Given the description of an element on the screen output the (x, y) to click on. 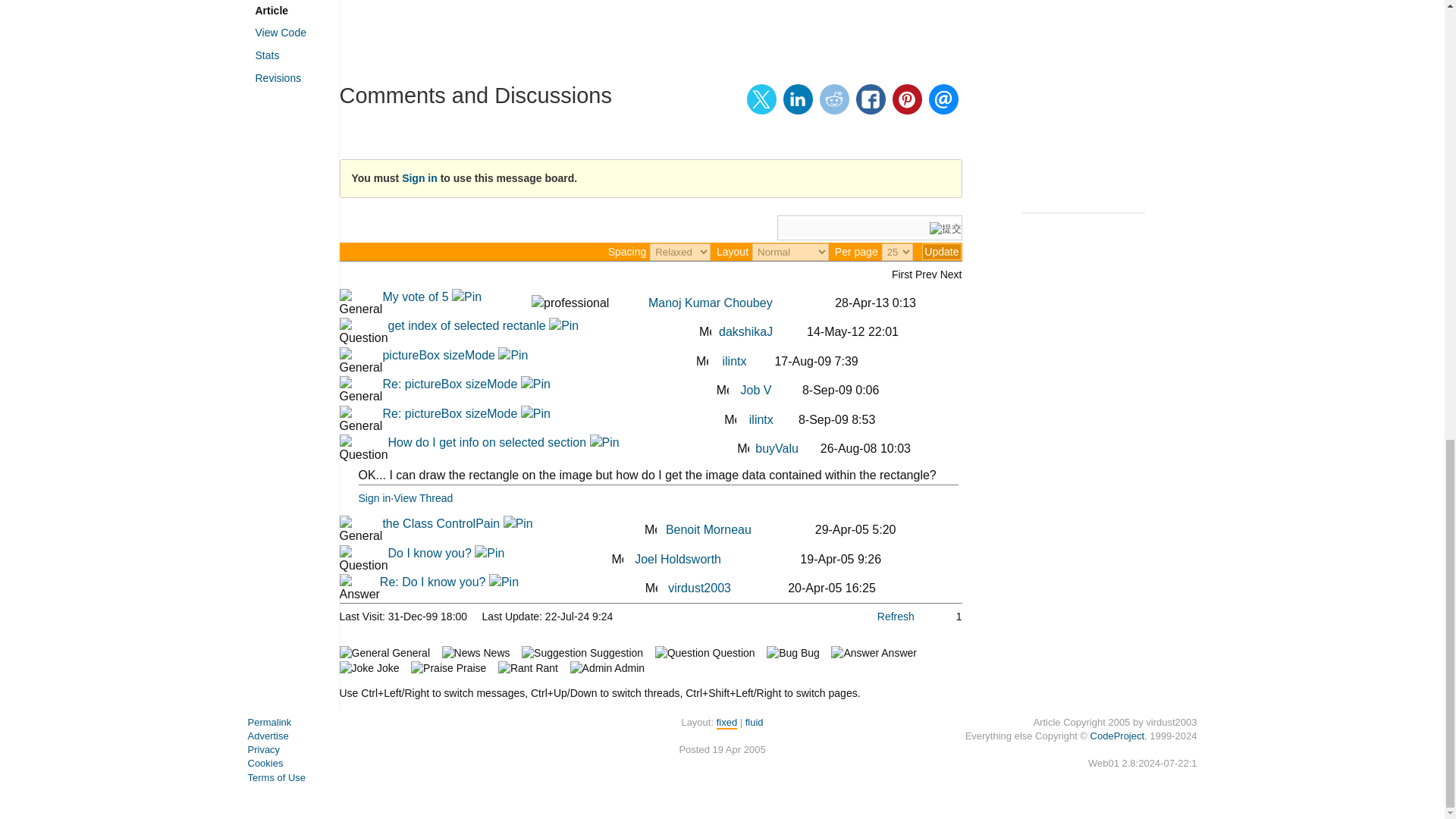
General (360, 303)
Professional (569, 303)
Update (940, 251)
Question (363, 331)
Click to pin message (466, 296)
